Given the description of an element on the screen output the (x, y) to click on. 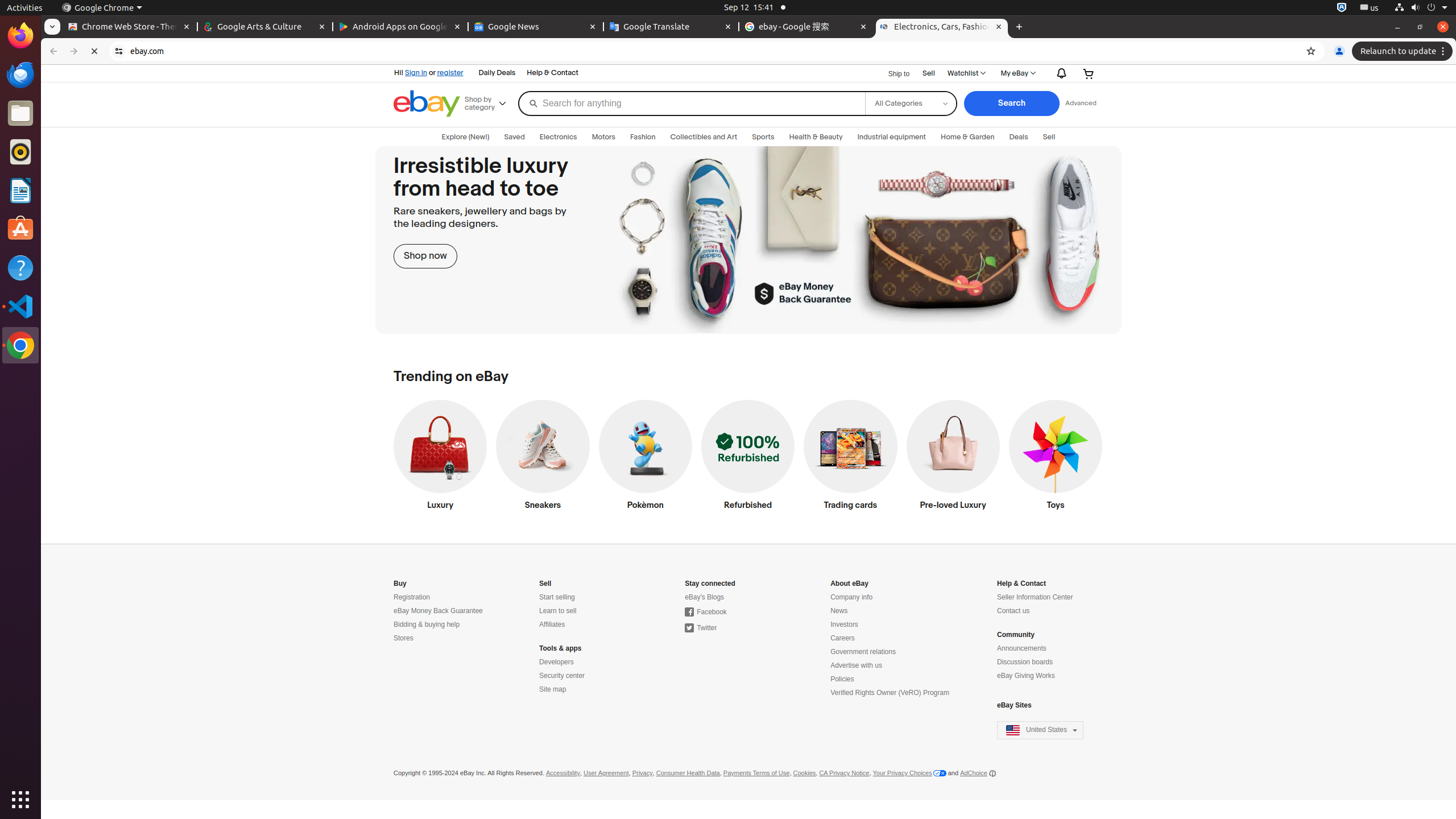
Consumer Health Data Element type: link (687, 773)
Advertise with us Element type: link (856, 665)
Investors Element type: link (844, 624)
Cookies Element type: link (804, 773)
Back Element type: push-button (51, 50)
